Given the description of an element on the screen output the (x, y) to click on. 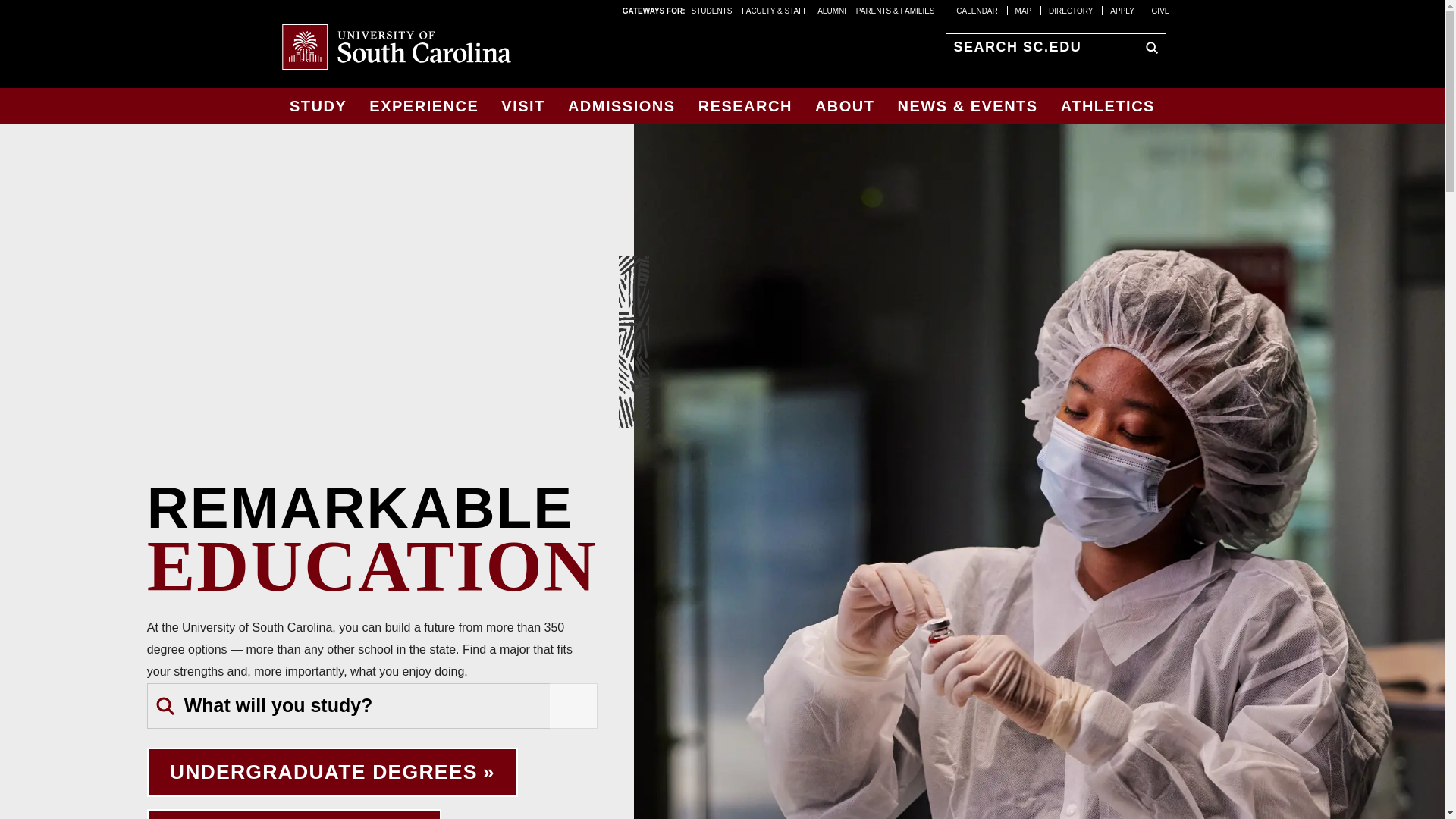
APPLY (1121, 9)
GO (573, 705)
GIVE (1160, 9)
GO (573, 705)
MAP (1023, 9)
GO (1148, 46)
STUDENTS (713, 9)
GO (1148, 46)
ALUMNI (830, 9)
CALENDAR (976, 9)
sc.edu Search (1148, 46)
STUDY (318, 105)
VISIT (523, 105)
DIRECTORY (1070, 9)
EXPERIENCE (423, 105)
